Given the description of an element on the screen output the (x, y) to click on. 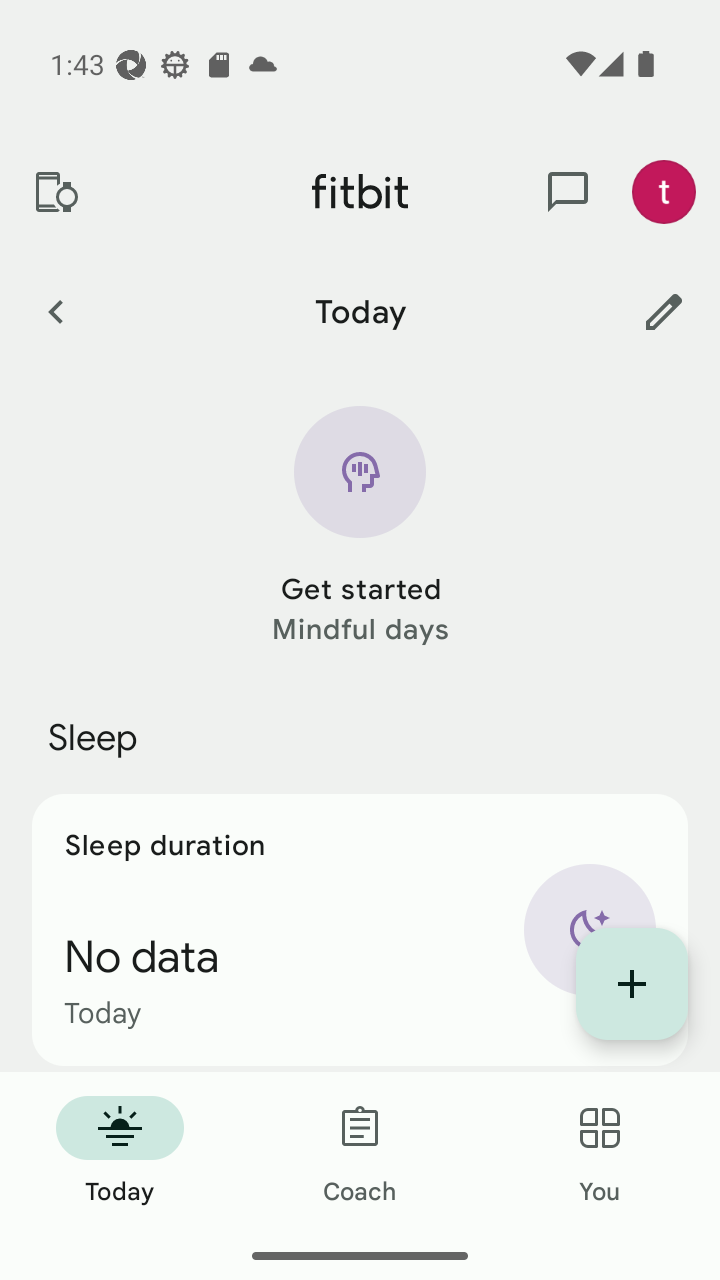
Devices and apps (55, 191)
messages and notifications (567, 191)
Previous Day (55, 311)
Customize (664, 311)
Mindfulness icon Get started Mindful days (360, 527)
Sleep duration No data Today Sleep static arc (359, 929)
Display list of quick log entries (632, 983)
Coach (359, 1151)
You (600, 1151)
